Given the description of an element on the screen output the (x, y) to click on. 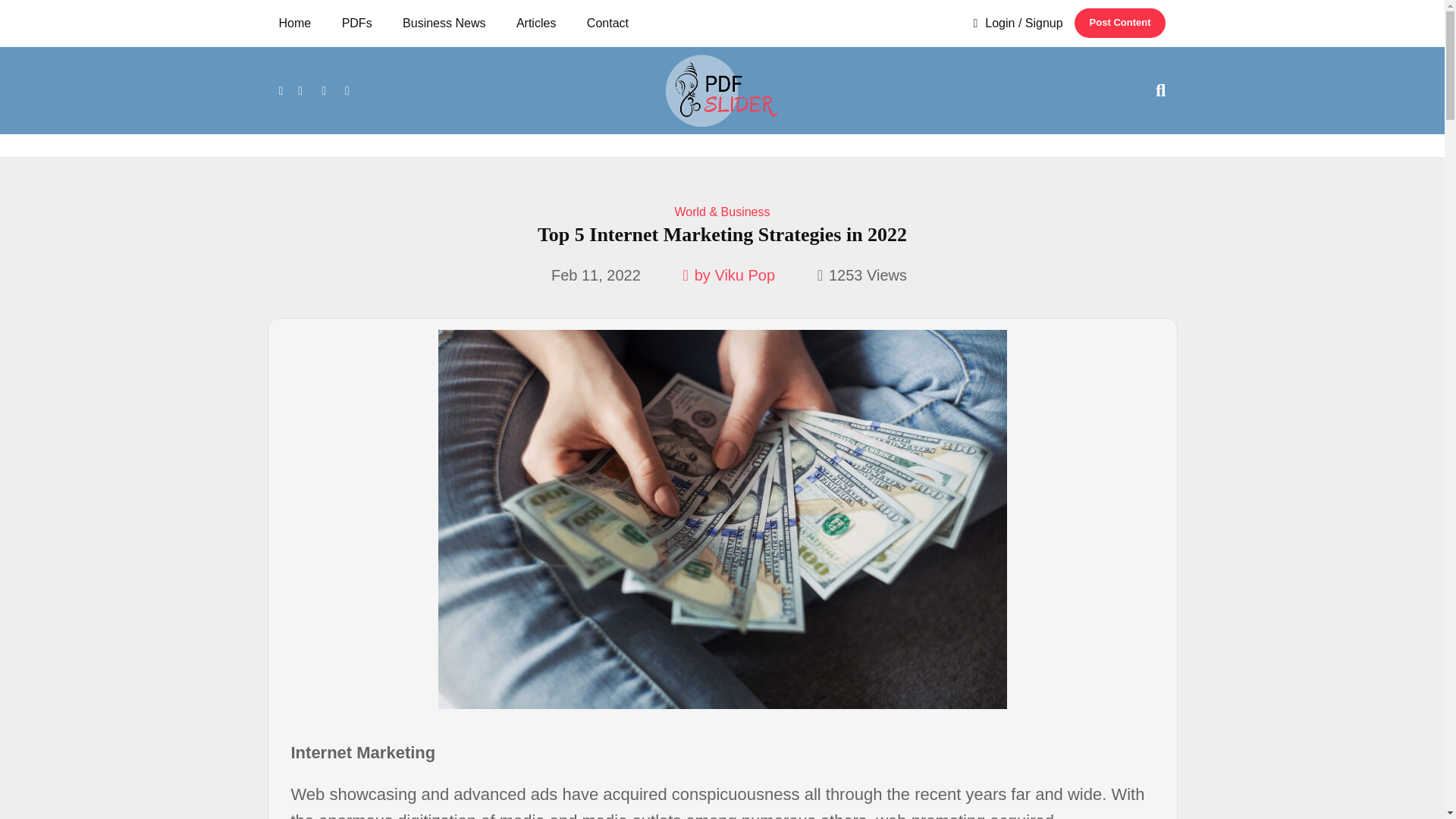
twitter (299, 90)
pinterest (323, 90)
Post Content (1120, 22)
Contact (607, 23)
PDFs (356, 23)
Home (300, 23)
Business News (444, 23)
tumblr (346, 90)
by Viku Pop (728, 274)
Articles (536, 23)
